Given the description of an element on the screen output the (x, y) to click on. 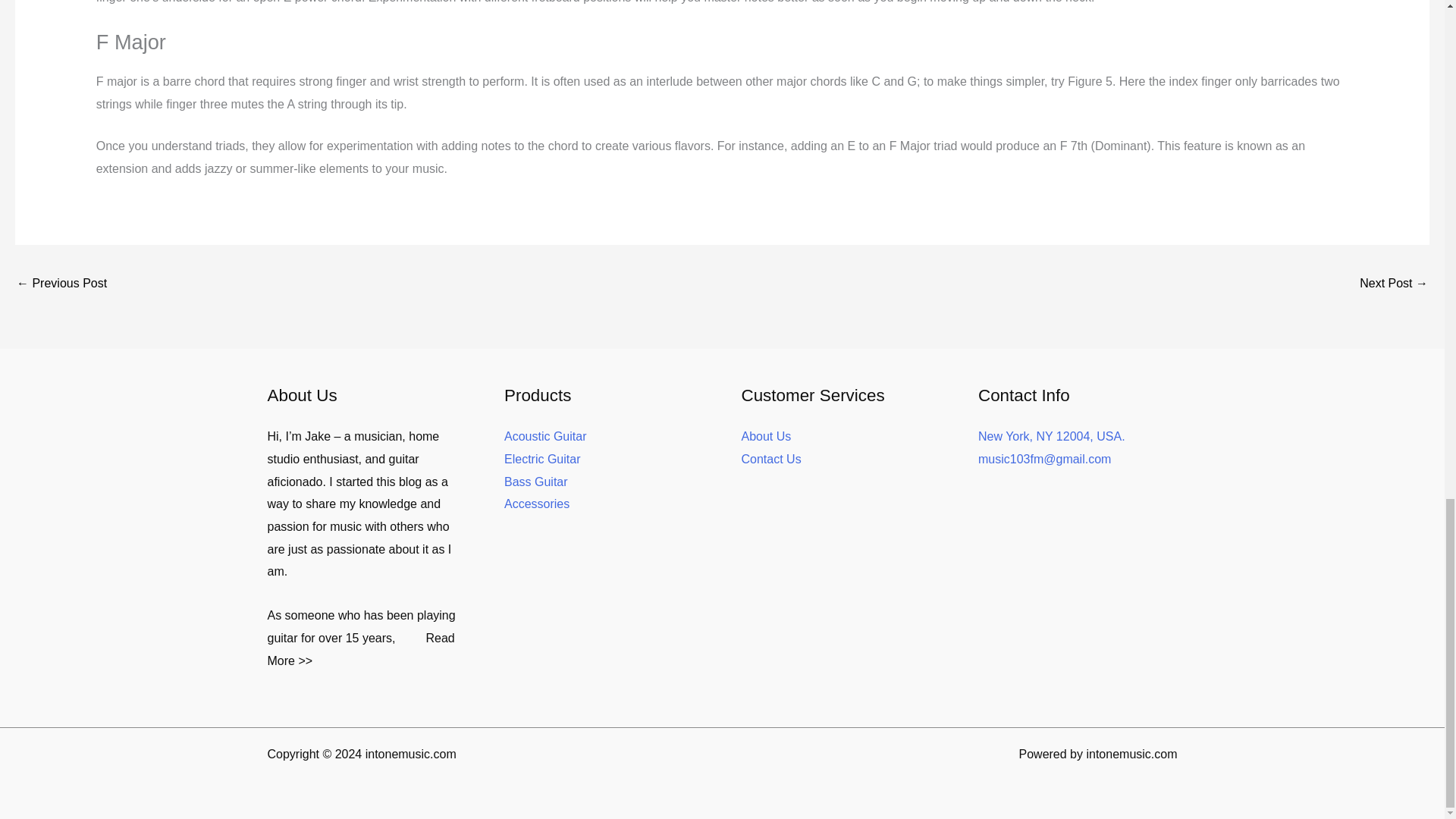
Heavy Metal Music and ADHD (1393, 284)
Soul Music Mix 80s Download (61, 284)
